Given the description of an element on the screen output the (x, y) to click on. 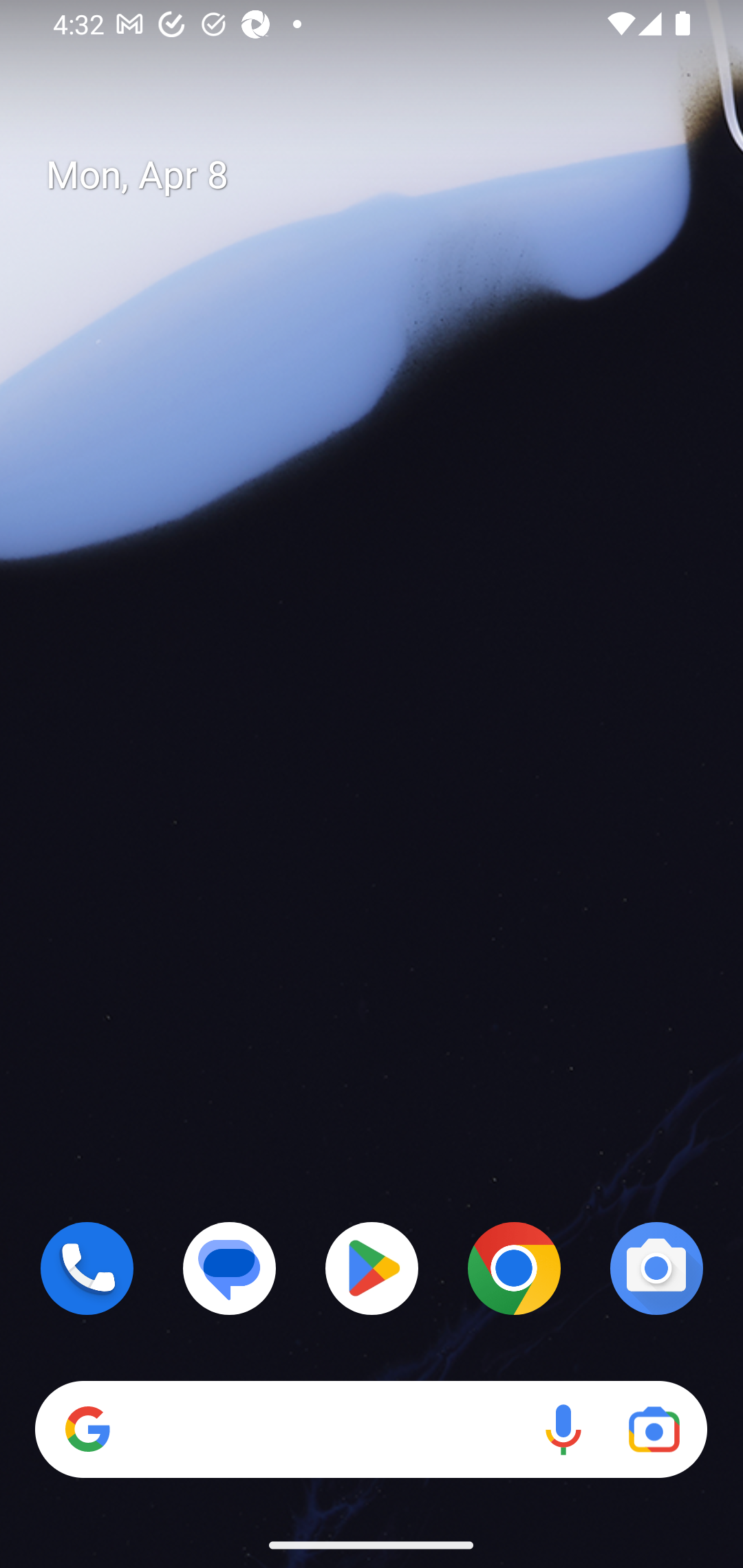
Mon, Apr 8 (386, 175)
Phone (86, 1268)
Messages (229, 1268)
Play Store (371, 1268)
Chrome (513, 1268)
Camera (656, 1268)
Search Voice search Google Lens (370, 1429)
Voice search (562, 1429)
Google Lens (653, 1429)
